Given the description of an element on the screen output the (x, y) to click on. 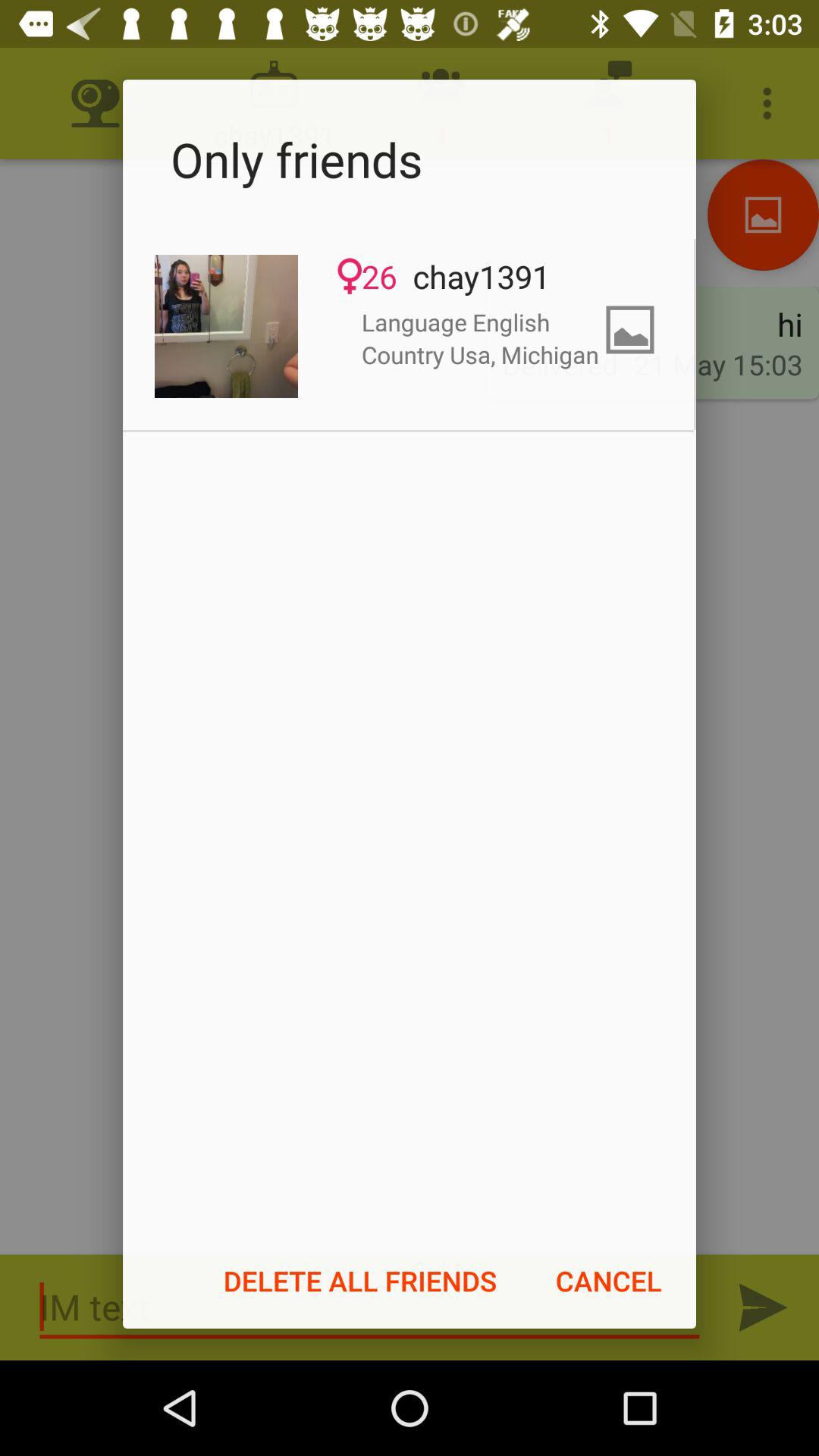
click cancel (608, 1280)
